Given the description of an element on the screen output the (x, y) to click on. 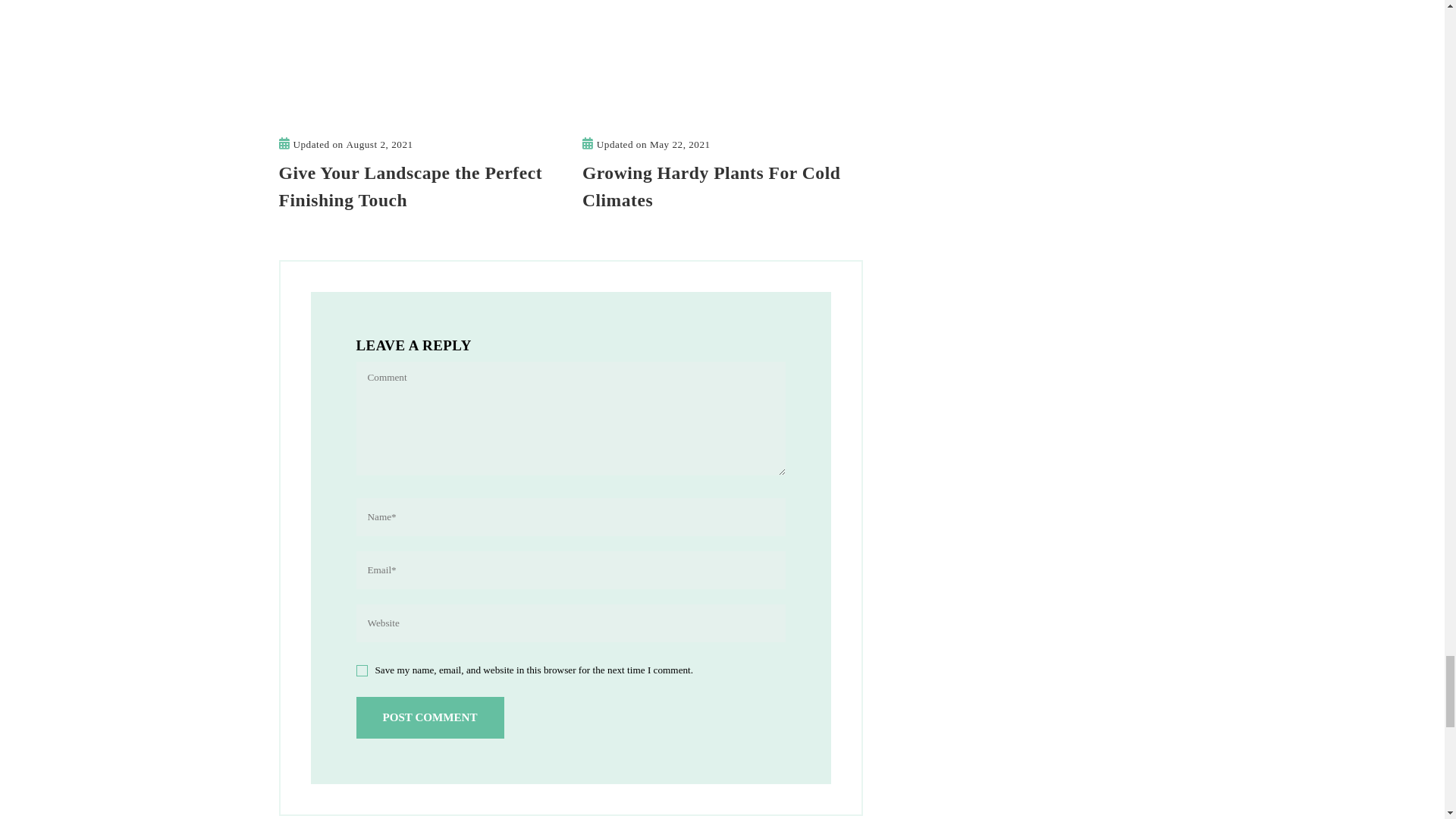
Post Comment (429, 717)
